Given the description of an element on the screen output the (x, y) to click on. 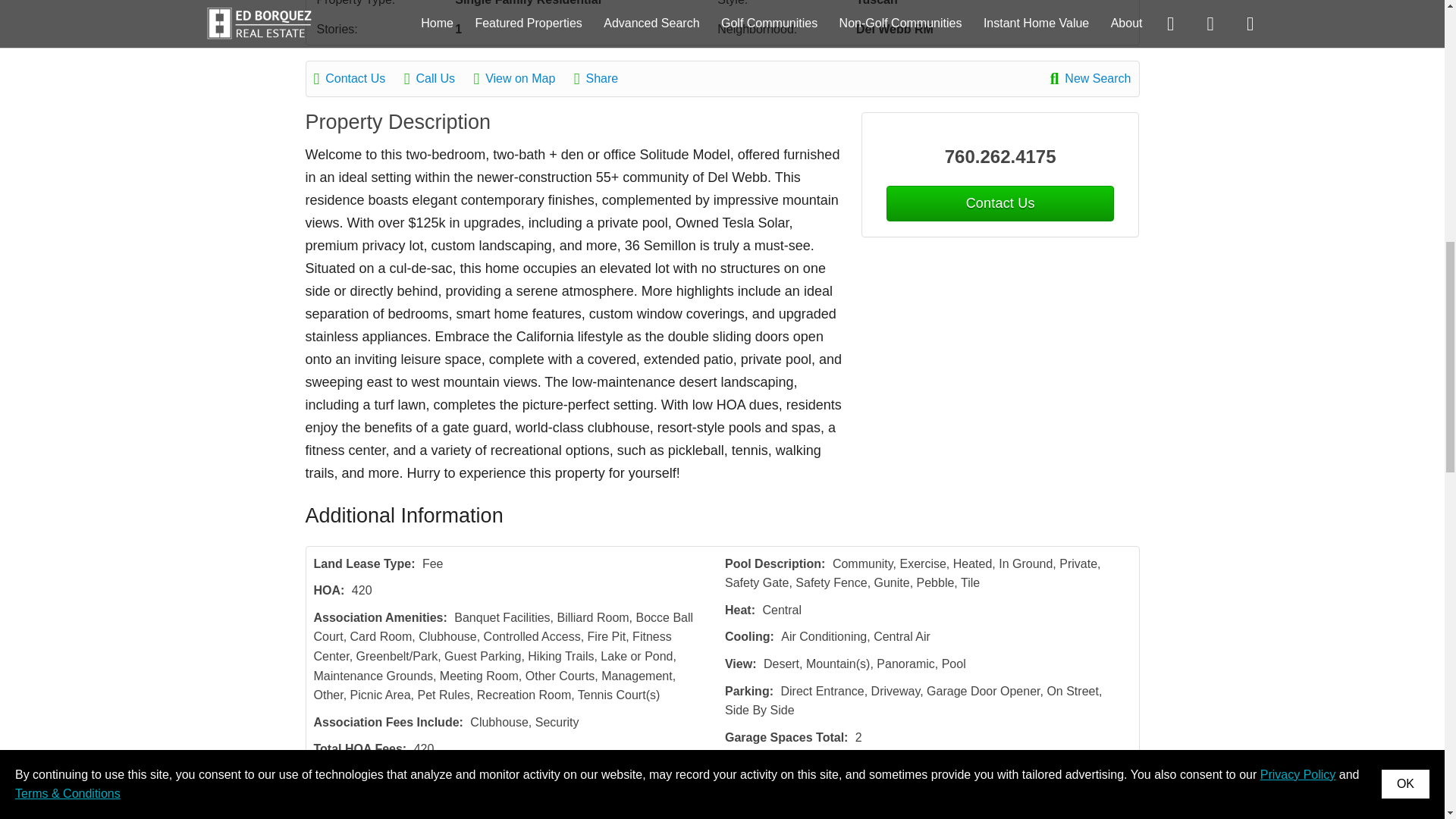
Contact Us (999, 203)
Call Us (437, 78)
760.262.4175 (1000, 156)
Contact Us (357, 78)
Share (603, 78)
View on Map (521, 78)
New Search (1090, 78)
